Given the description of an element on the screen output the (x, y) to click on. 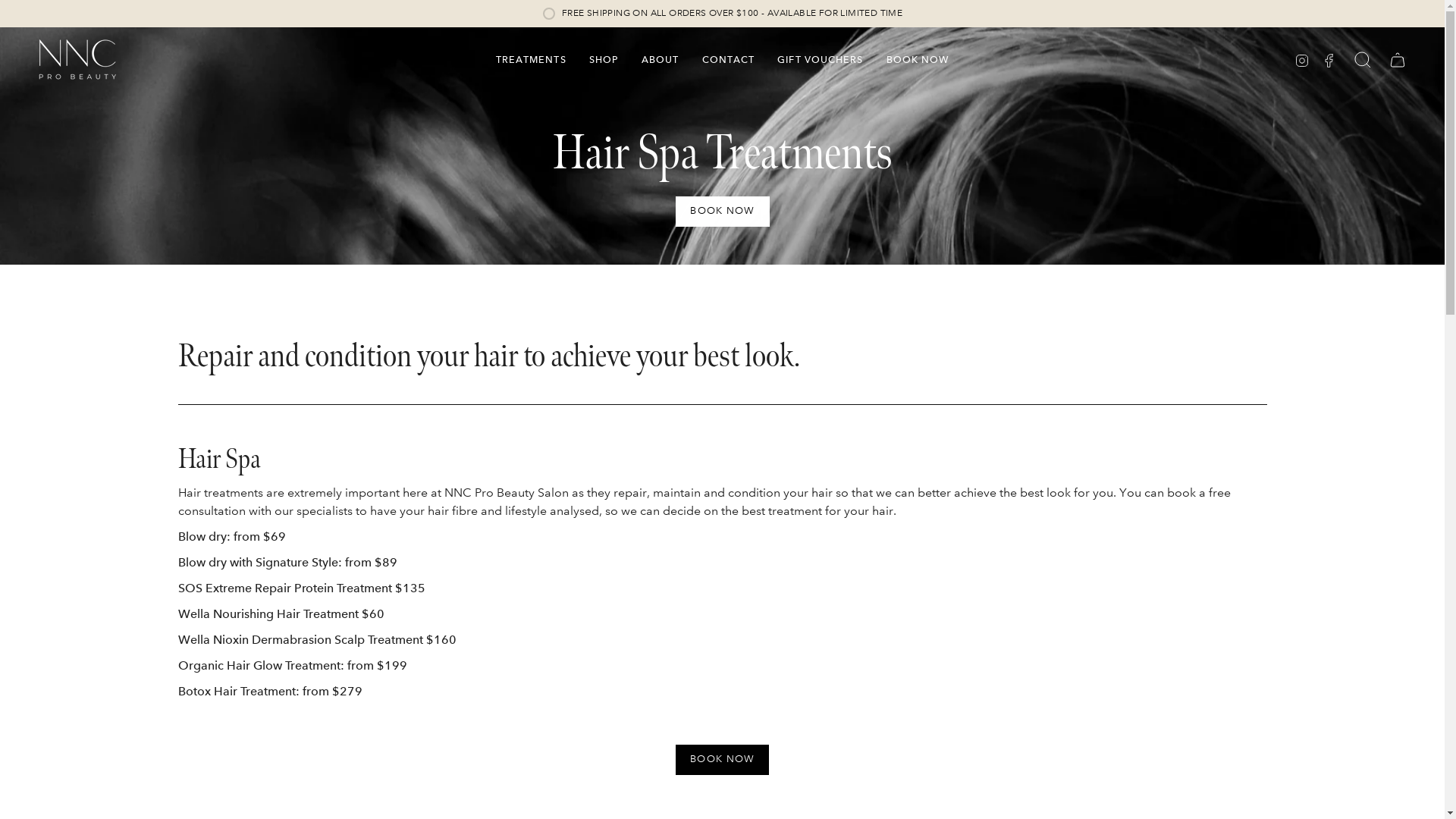
GIFT VOUCHERS Element type: text (819, 59)
BOOK NOW Element type: text (721, 211)
ABOUT Element type: text (660, 59)
BOOK NOW Element type: text (721, 759)
SHOP Element type: text (603, 59)
BOOK NOW Element type: text (917, 59)
FACEBOOK Element type: text (1328, 59)
CART Element type: text (1397, 59)
CONTACT Element type: text (728, 59)
INSTAGRAM Element type: text (1301, 59)
TREATMENTS Element type: text (530, 59)
